Given the description of an element on the screen output the (x, y) to click on. 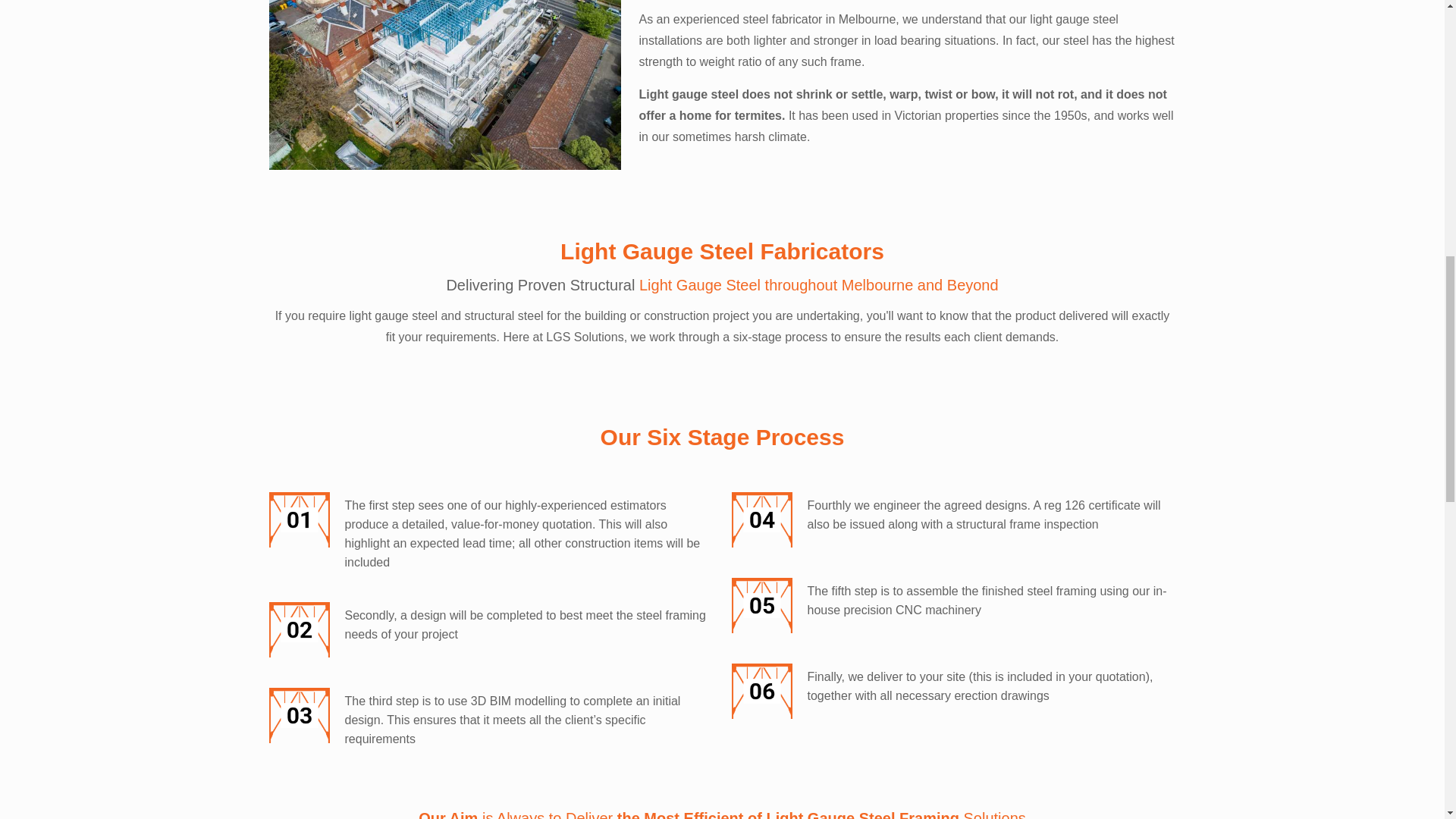
Light Gauge Steel throughout Melbourne and Beyond (818, 284)
